Given the description of an element on the screen output the (x, y) to click on. 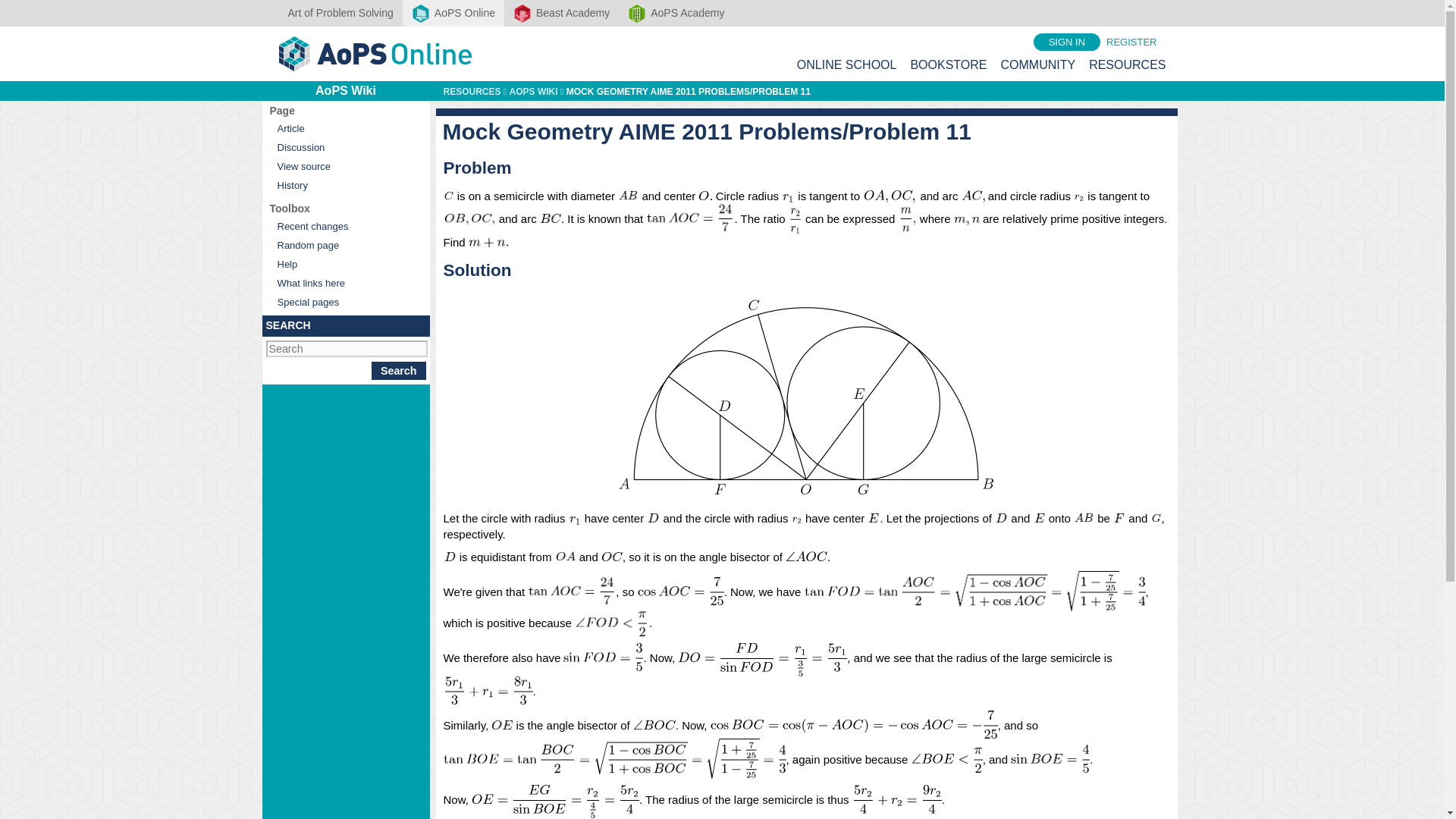
Beast Academy (560, 13)
Art of Problem Solving (341, 13)
Search the pages for this text (398, 370)
COMMUNITY (1037, 64)
RESOURCES (1127, 64)
BOOKSTORE (948, 64)
The place to find out (344, 263)
AoPS Academy (675, 13)
ONLINE SCHOOL (846, 64)
Search (398, 370)
Search (398, 370)
AoPS Online (453, 13)
